Given the description of an element on the screen output the (x, y) to click on. 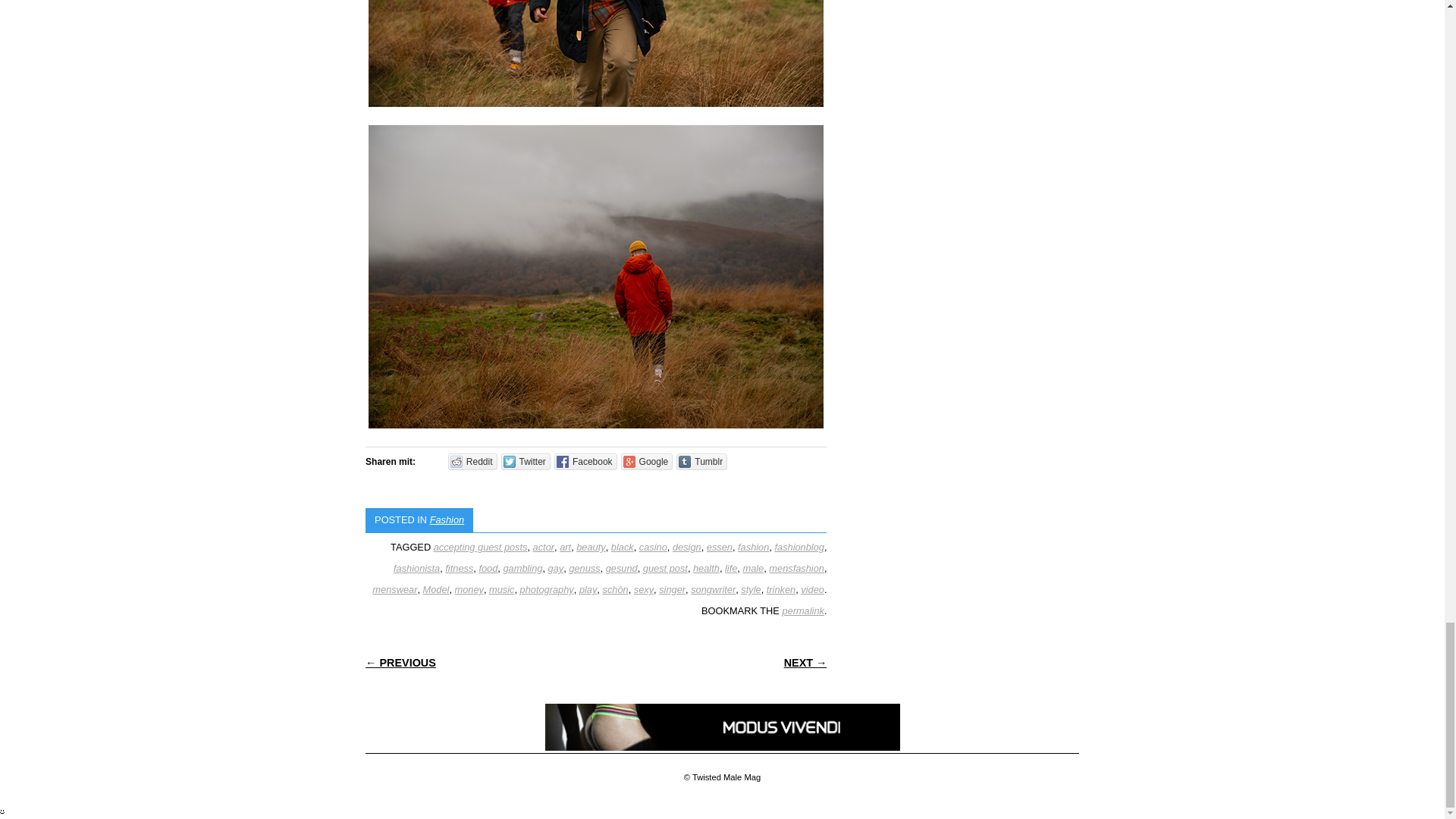
casino (652, 546)
Klicken, um es per Twitter zu teilen (525, 461)
fashionblog (799, 546)
Reddit (472, 461)
fashion (753, 546)
Twitter (525, 461)
beauty (590, 546)
design (686, 546)
art (564, 546)
fashionista (416, 568)
Fashion (446, 519)
gambling (521, 568)
essen (719, 546)
black (622, 546)
genuss (584, 568)
